Given the description of an element on the screen output the (x, y) to click on. 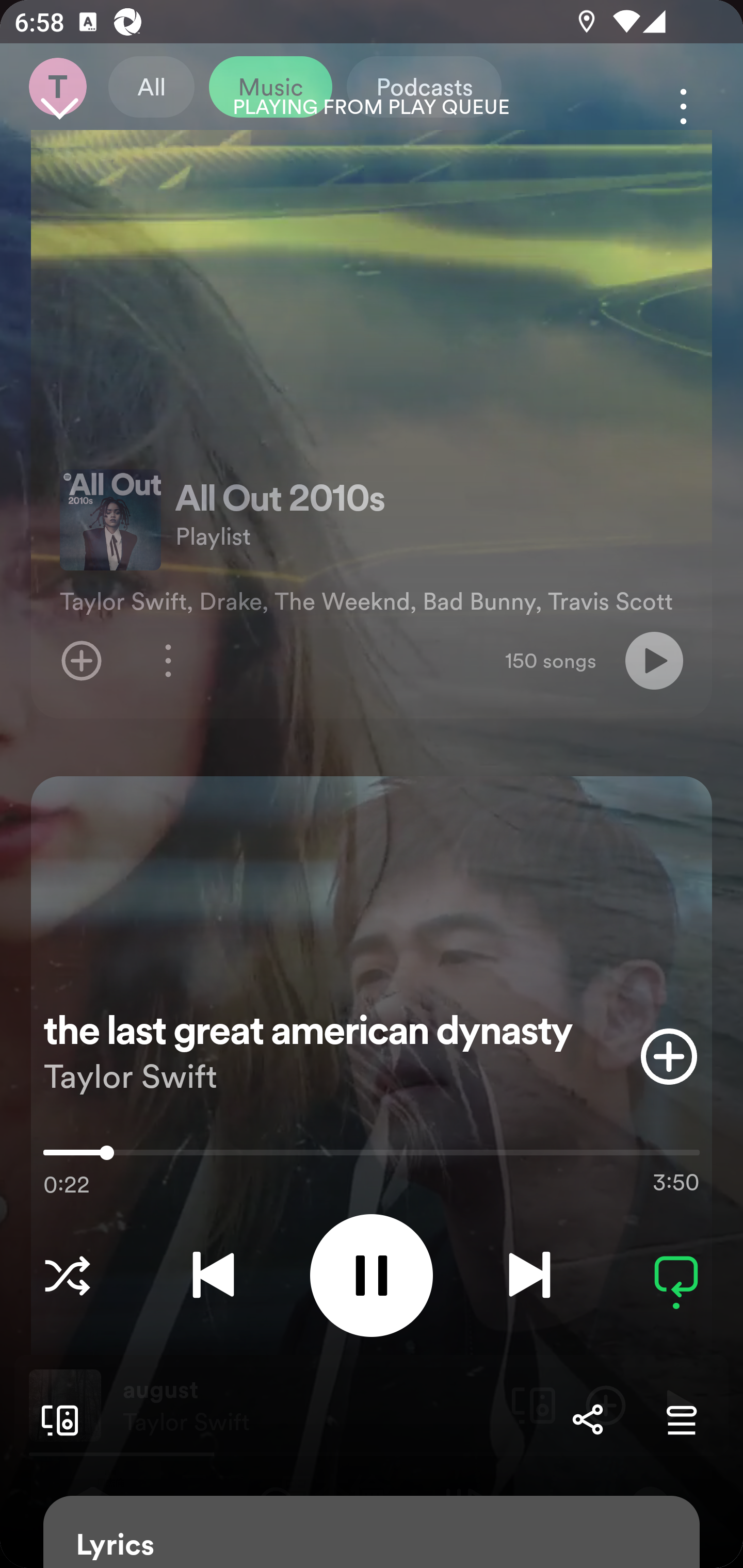
Close (59, 106)
PLAYING FROM PLAY QUEUE (371, 107)
Add item (669, 1056)
0:22 3:50 22253.0 Use volume keys to adjust (371, 1157)
Pause (371, 1275)
Previous (212, 1275)
Next (529, 1275)
Choose a Listening Mode (66, 1275)
Repeat (676, 1275)
Share (587, 1419)
Go to Queue (681, 1419)
Connect to a device. Opens the devices menu (55, 1419)
Lyrics (371, 1531)
